Given the description of an element on the screen output the (x, y) to click on. 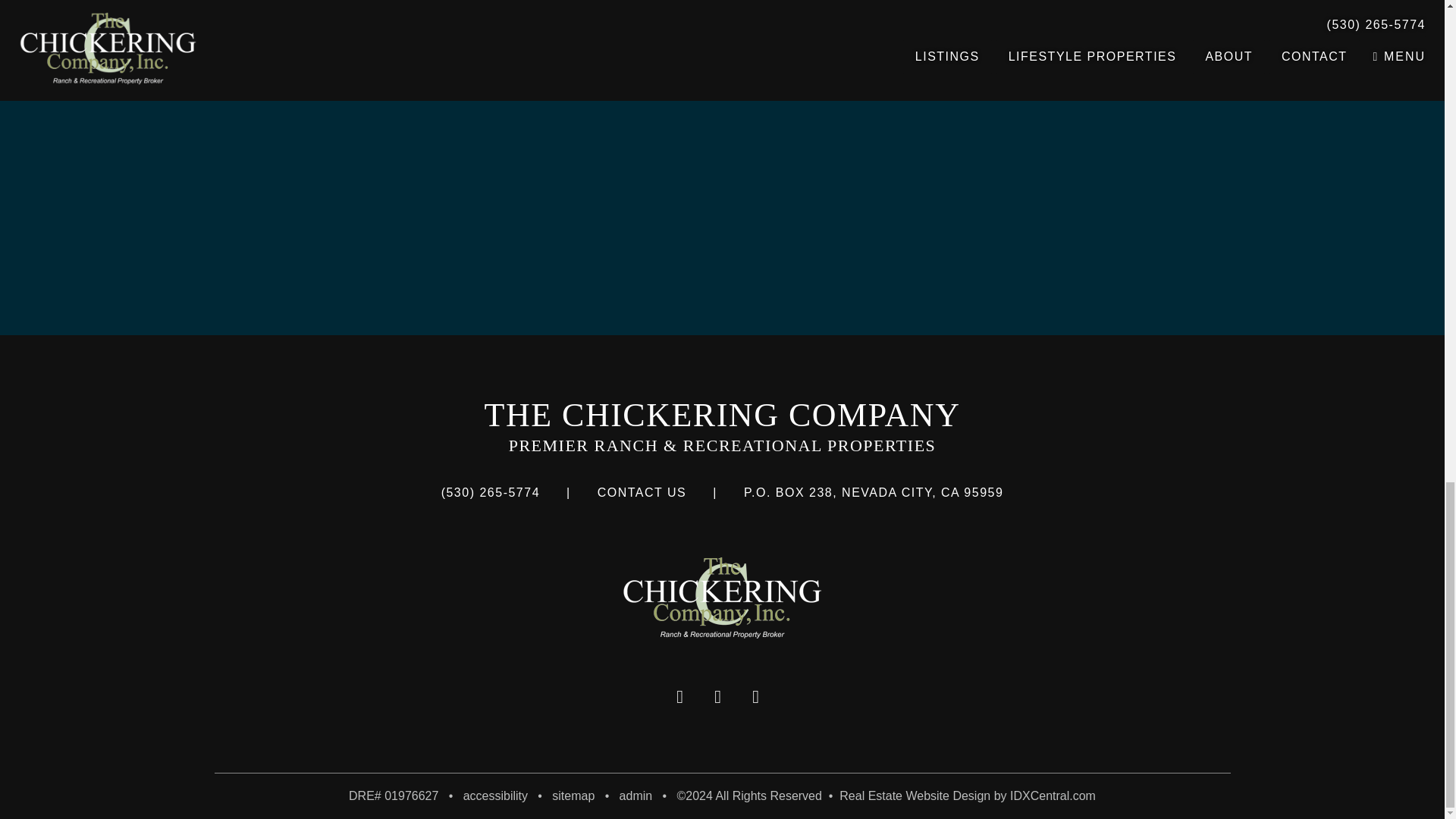
sitemap (916, 795)
accessibility (572, 795)
CONTACT US (495, 795)
admin (641, 492)
